Given the description of an element on the screen output the (x, y) to click on. 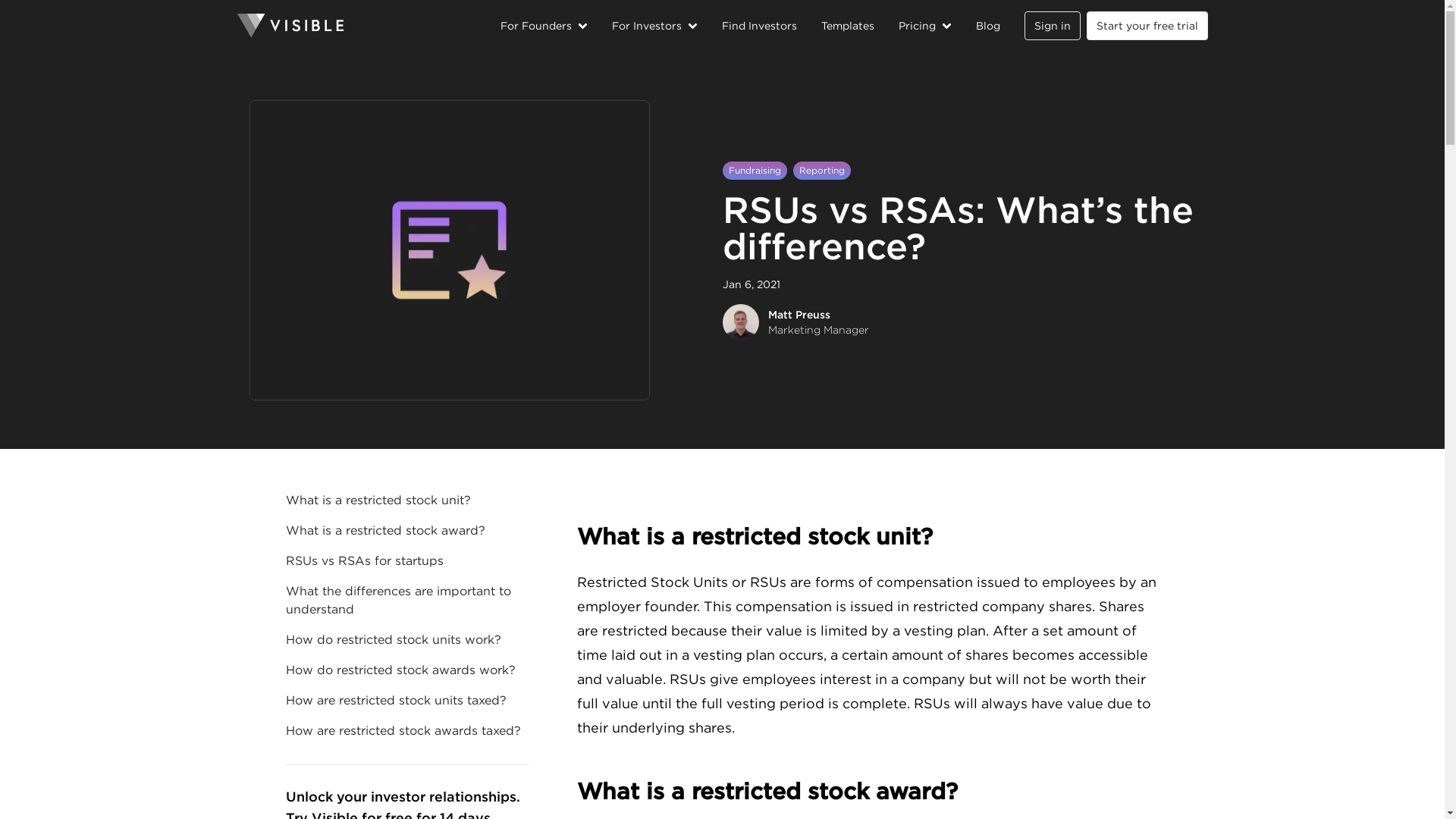
RSUs vs RSAs for startups (406, 561)
Find Investors (759, 25)
Reporting (821, 169)
Start your free trial (1146, 25)
What is a restricted stock unit? (867, 536)
Blog (986, 25)
What is a restricted stock award? (867, 791)
Fundraising (754, 169)
Templates (847, 25)
For Investors (654, 25)
What is a restricted stock unit? (406, 500)
For Founders (544, 25)
Sign in (1051, 25)
Pricing (924, 25)
What the differences are important to understand (406, 600)
